Given the description of an element on the screen output the (x, y) to click on. 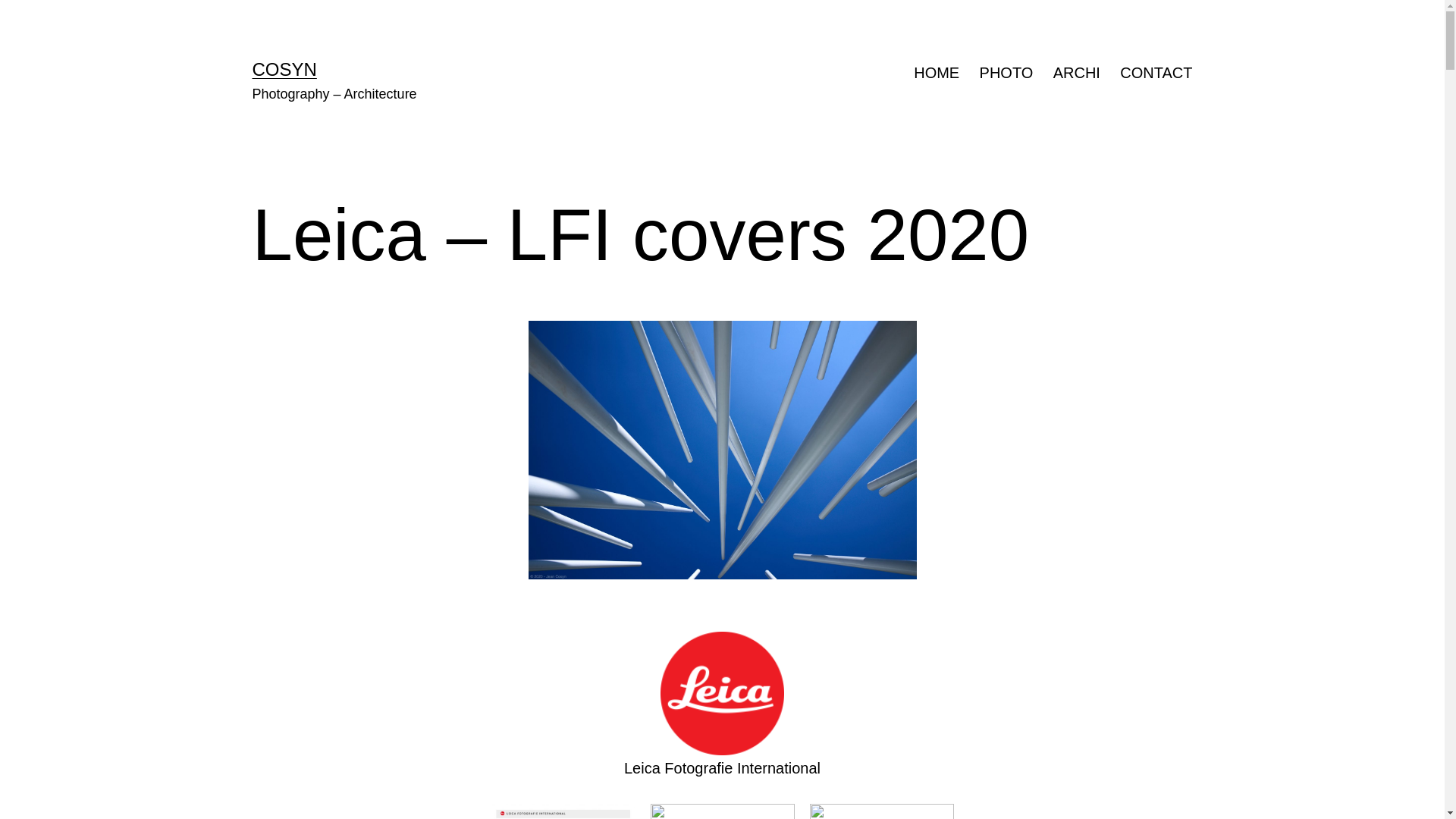
COSYN Element type: text (283, 69)
CONTACT Element type: text (1156, 72)
HOME Element type: text (936, 72)
PHOTO Element type: text (1005, 72)
ARCHI Element type: text (1076, 72)
